Given the description of an element on the screen output the (x, y) to click on. 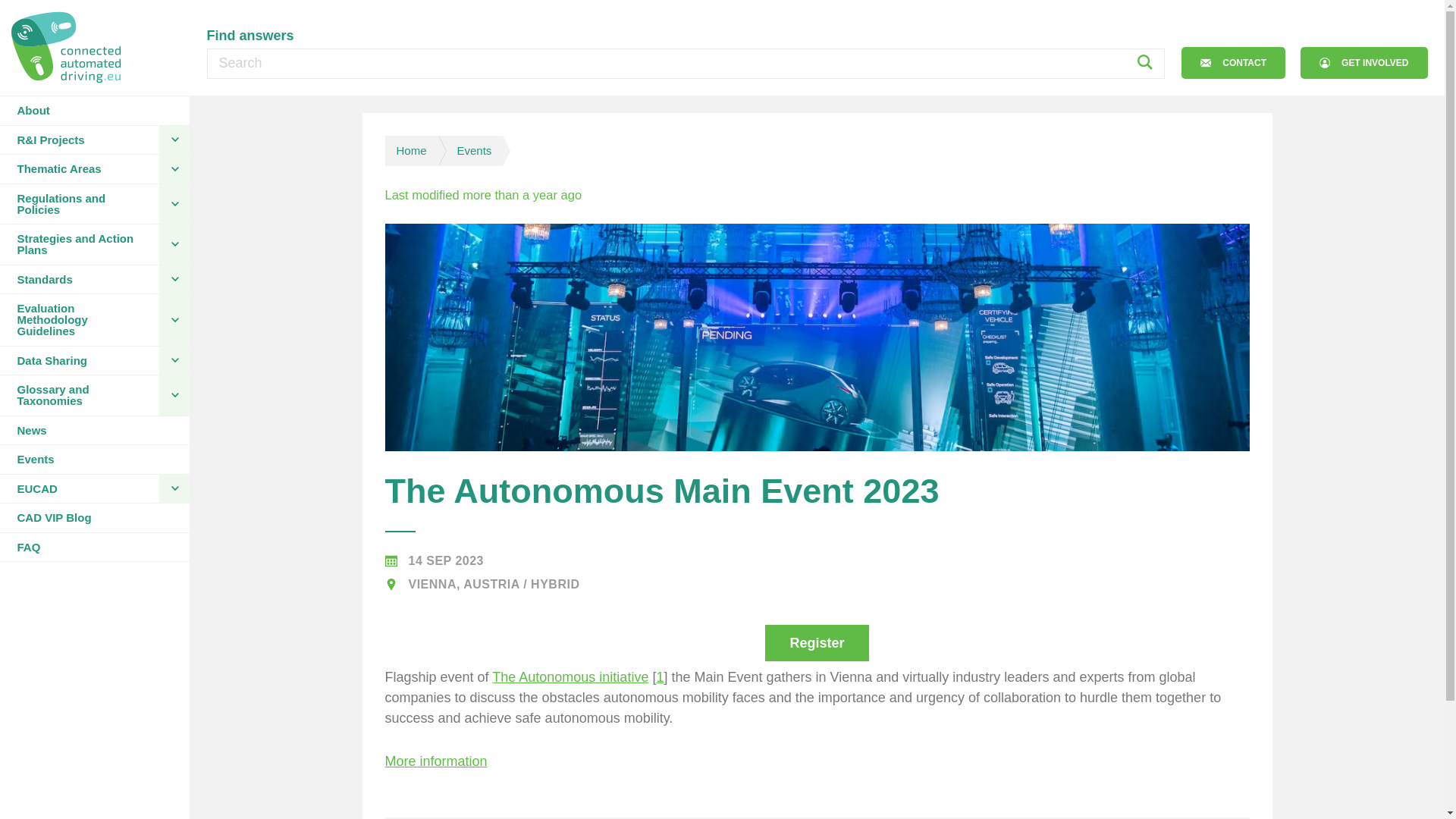
Evaluation Methodology Guidelines (79, 319)
CONTACT (1232, 62)
Regulations and Policies (79, 203)
Strategies and Action Plans (79, 244)
Thematic Areas (79, 168)
Standards (79, 279)
About (94, 110)
GET INVOLVED (1363, 62)
